Given the description of an element on the screen output the (x, y) to click on. 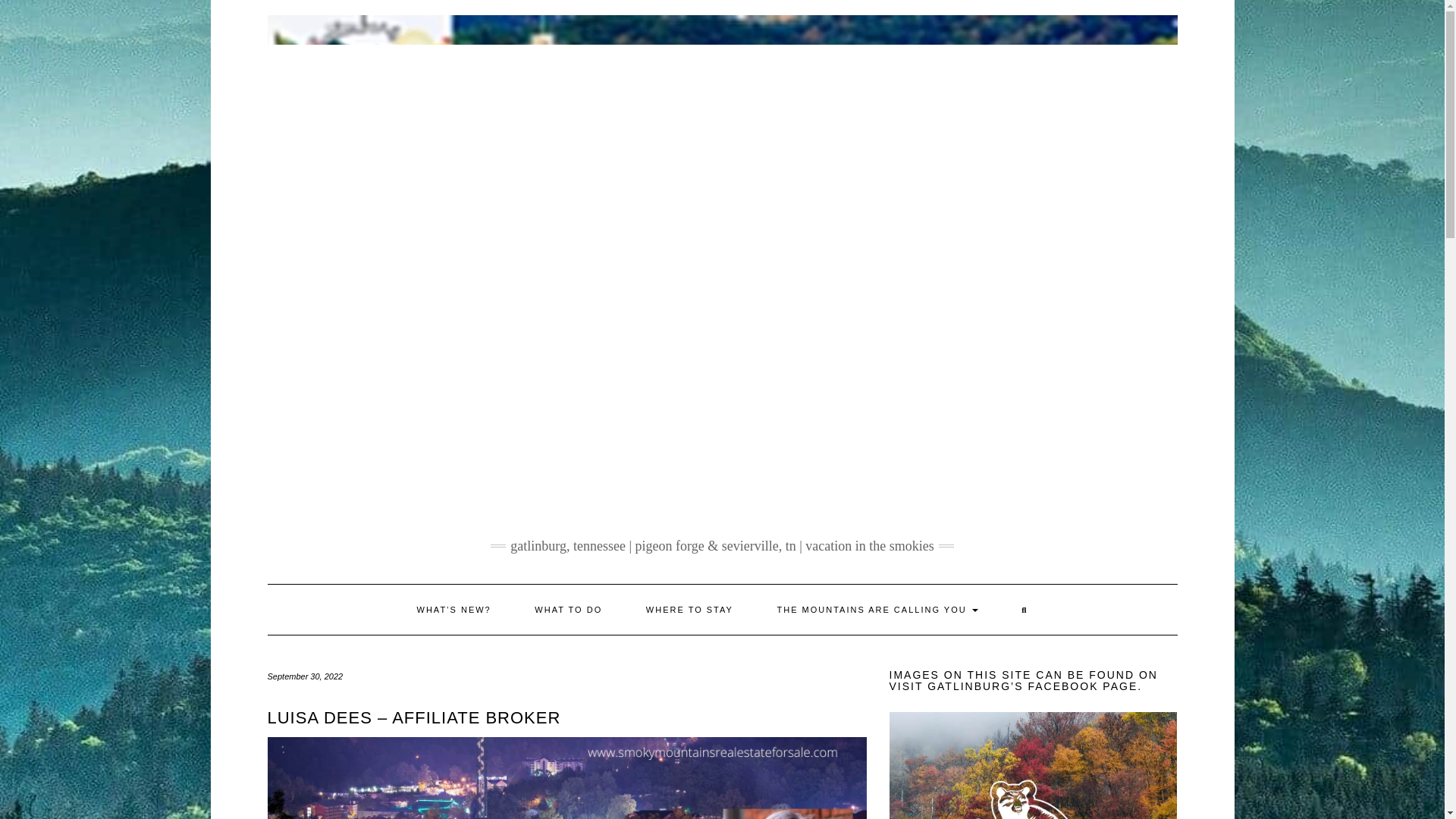
WHERE TO STAY (690, 609)
WHAT TO DO (568, 609)
THE MOUNTAINS ARE CALLING YOU (877, 609)
